Given the description of an element on the screen output the (x, y) to click on. 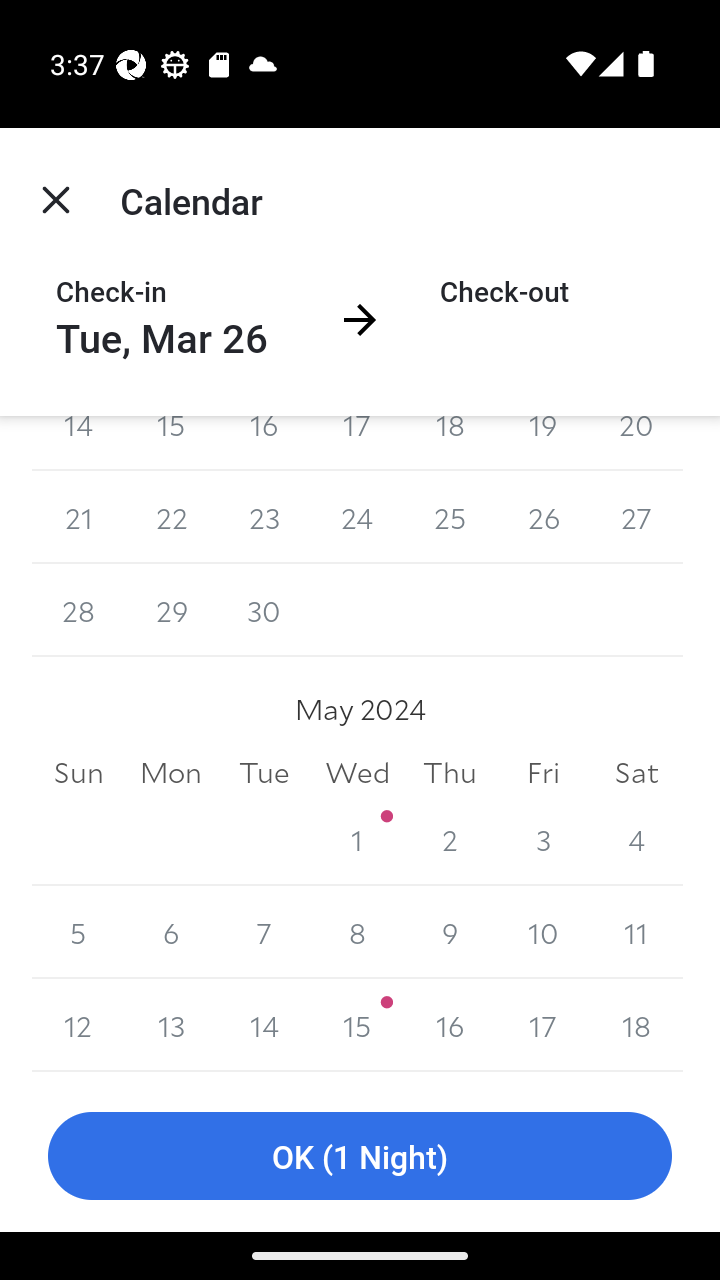
14 14 April 2024 (78, 443)
15 15 April 2024 (171, 443)
16 16 April 2024 (264, 443)
17 17 April 2024 (357, 443)
18 18 April 2024 (449, 443)
19 19 April 2024 (542, 443)
20 20 April 2024 (636, 443)
21 21 April 2024 (78, 517)
22 22 April 2024 (171, 517)
23 23 April 2024 (264, 517)
24 24 April 2024 (357, 517)
25 25 April 2024 (449, 517)
26 26 April 2024 (542, 517)
27 27 April 2024 (636, 517)
28 28 April 2024 (78, 610)
29 29 April 2024 (171, 610)
30 30 April 2024 (264, 610)
Sun (78, 772)
Mon (171, 772)
Tue (264, 772)
Wed (357, 772)
Thu (449, 772)
Fri (542, 772)
Sat (636, 772)
1 1 May 2024 (357, 839)
2 2 May 2024 (449, 839)
3 3 May 2024 (542, 839)
4 4 May 2024 (636, 839)
5 5 May 2024 (78, 932)
6 6 May 2024 (171, 932)
7 7 May 2024 (264, 932)
8 8 May 2024 (357, 932)
9 9 May 2024 (449, 932)
10 10 May 2024 (542, 932)
11 11 May 2024 (636, 932)
12 12 May 2024 (78, 1025)
13 13 May 2024 (171, 1025)
14 14 May 2024 (264, 1025)
15 15 May 2024 (357, 1025)
16 16 May 2024 (449, 1025)
17 17 May 2024 (542, 1025)
18 18 May 2024 (636, 1025)
OK (1 Night) (359, 1156)
